Given the description of an element on the screen output the (x, y) to click on. 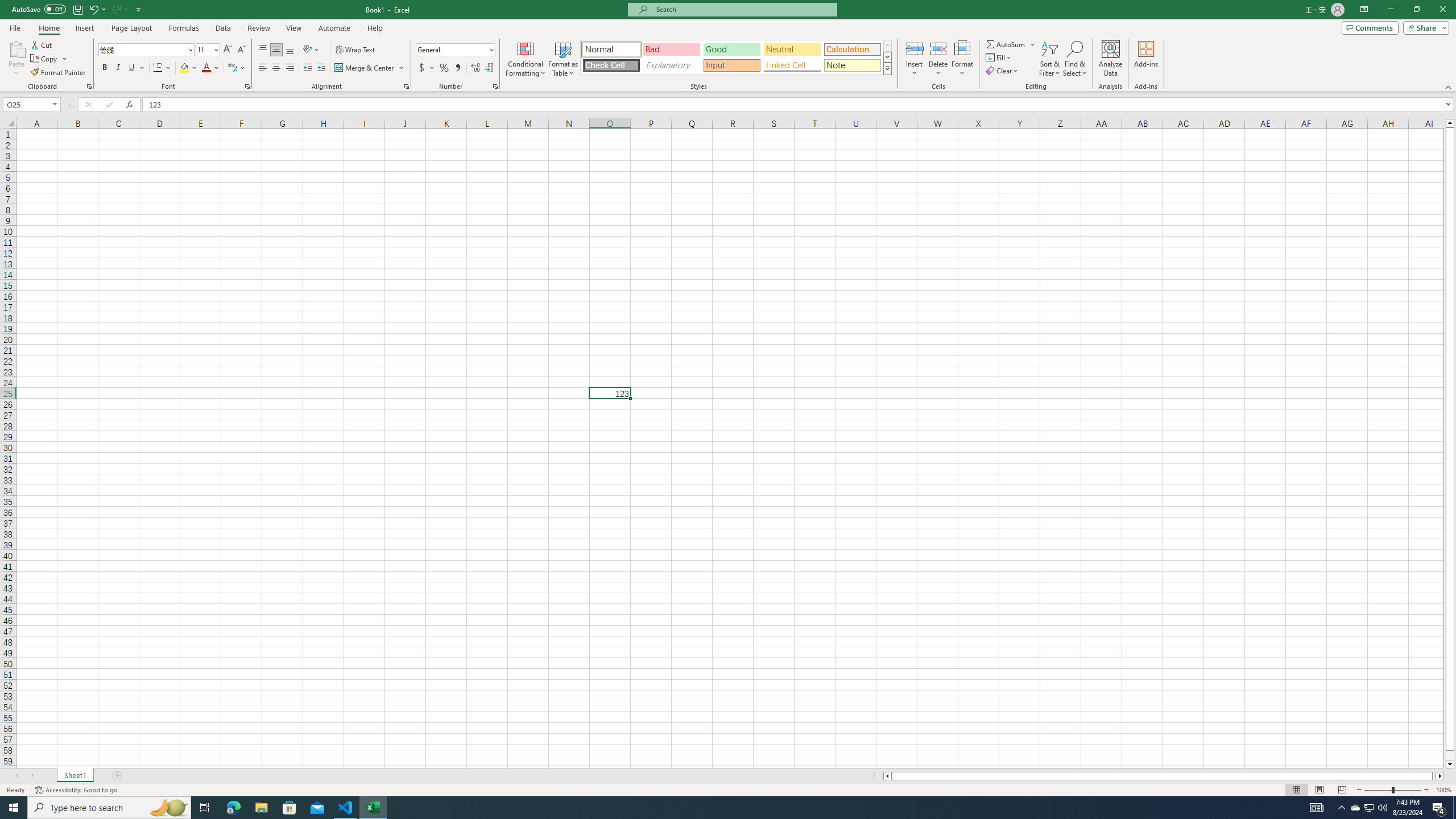
Sheet1 (74, 775)
Normal (611, 49)
Italic (118, 67)
Input (731, 65)
Line down (1449, 764)
Close (1442, 9)
Formulas (184, 28)
Wrap Text (355, 49)
Font Color (210, 67)
Accessibility Checker Accessibility: Good to go (76, 790)
Normal (1296, 790)
Align Left (262, 67)
Restore Down (1416, 9)
